Given the description of an element on the screen output the (x, y) to click on. 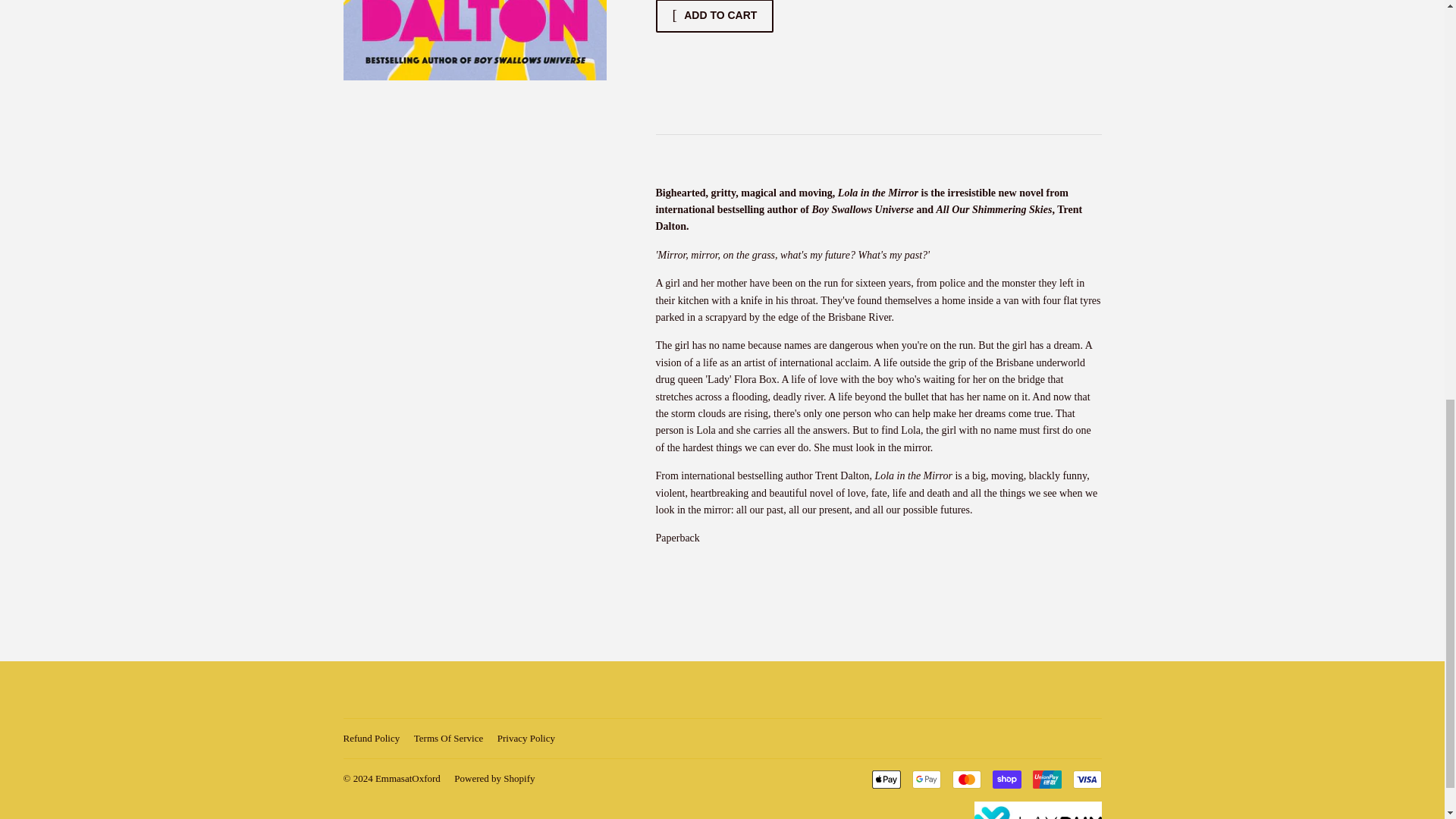
Mastercard (966, 779)
Shop Pay (1005, 779)
Google Pay (925, 779)
Apple Pay (886, 779)
Visa (1085, 779)
Union Pay (1046, 779)
